Given the description of an element on the screen output the (x, y) to click on. 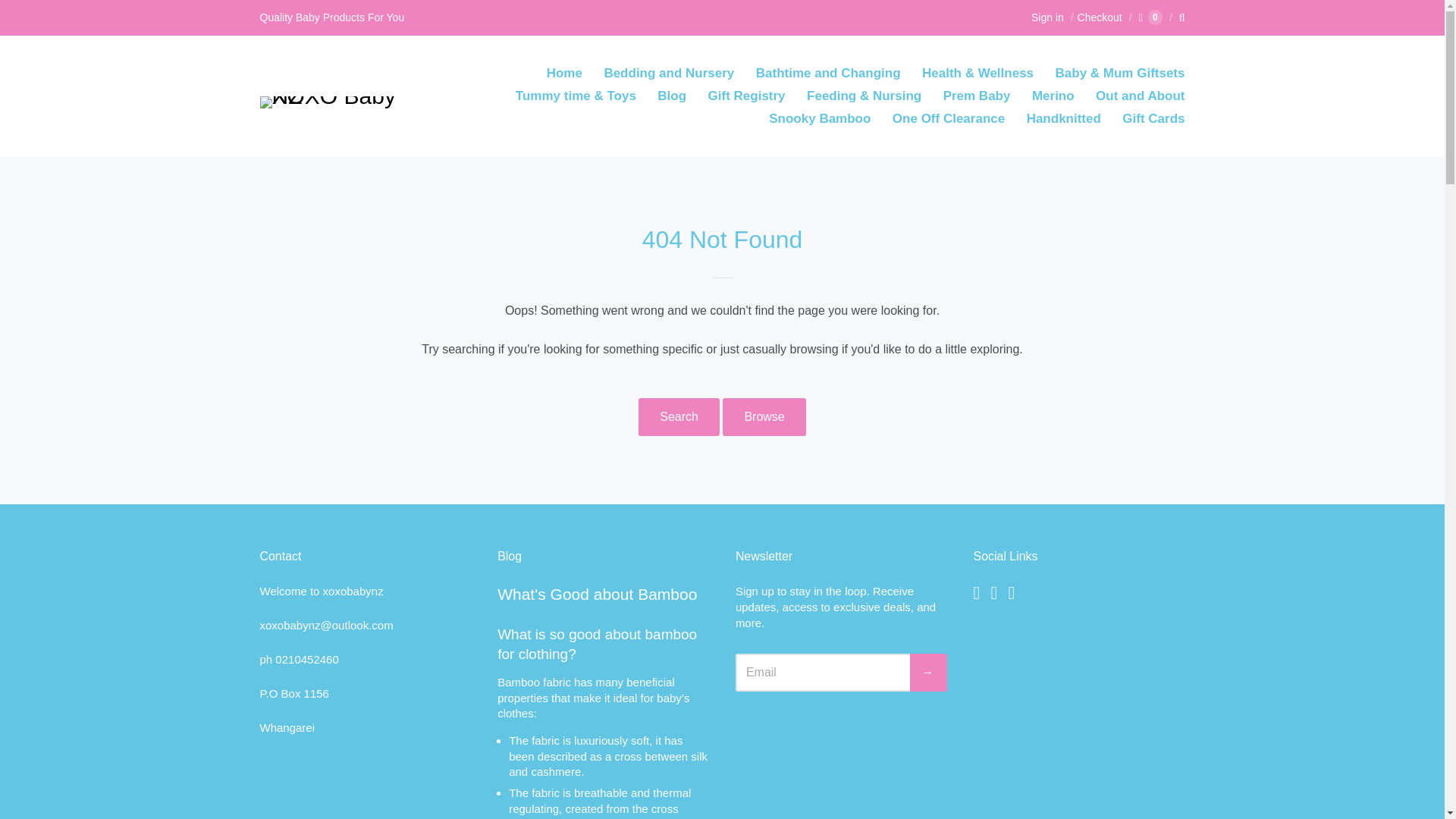
Bedding and Nursery (668, 73)
Checkout (1094, 17)
Prem Baby (977, 96)
Handknitted (1063, 118)
Snooky Bamboo (819, 118)
Blog (671, 96)
Merino (1053, 96)
Gift Registry (746, 96)
0 (1149, 17)
What's Good about Bamboo (597, 593)
